Given the description of an element on the screen output the (x, y) to click on. 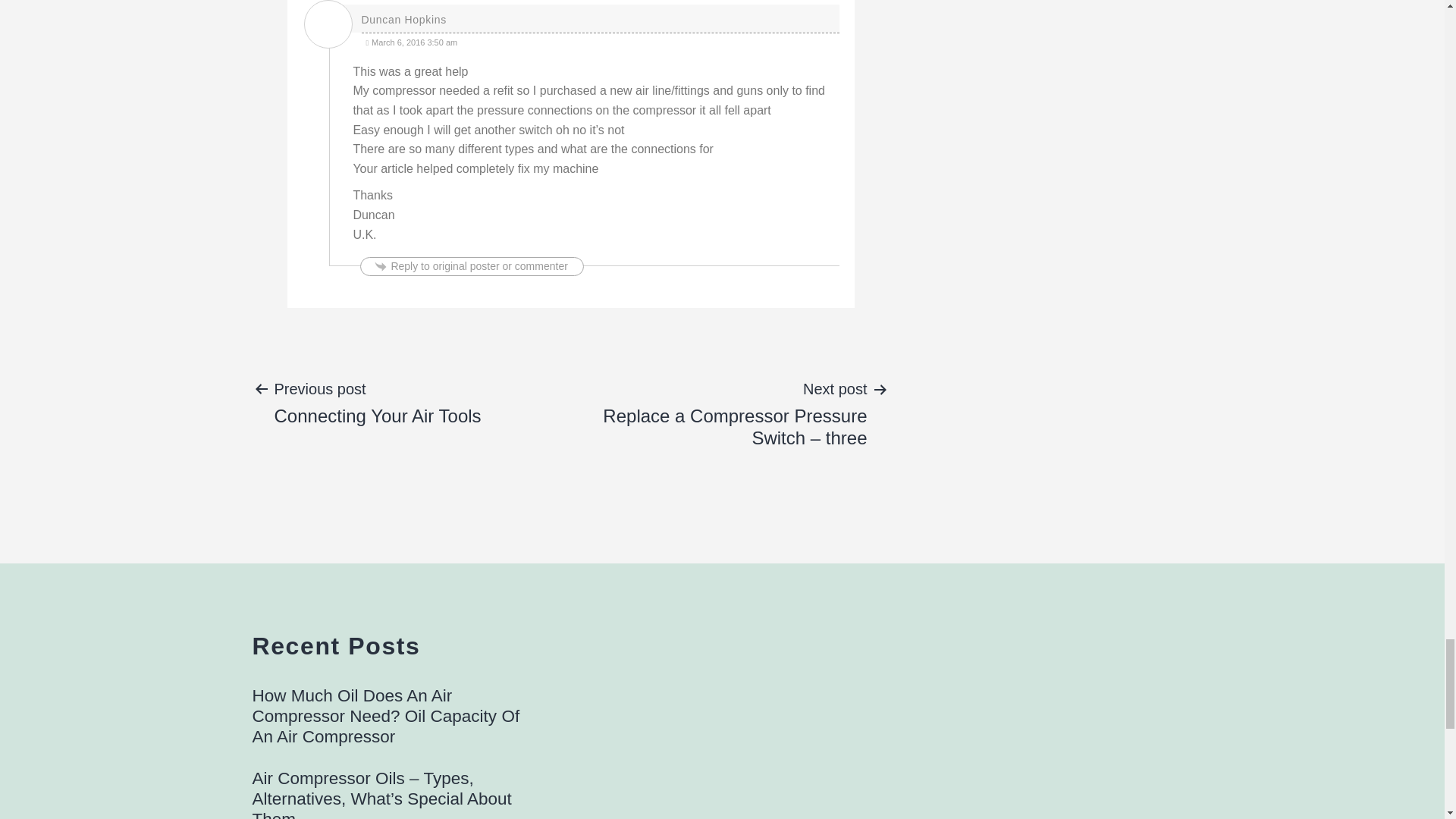
March 6, 2016 3:50 am (376, 401)
